Given the description of an element on the screen output the (x, y) to click on. 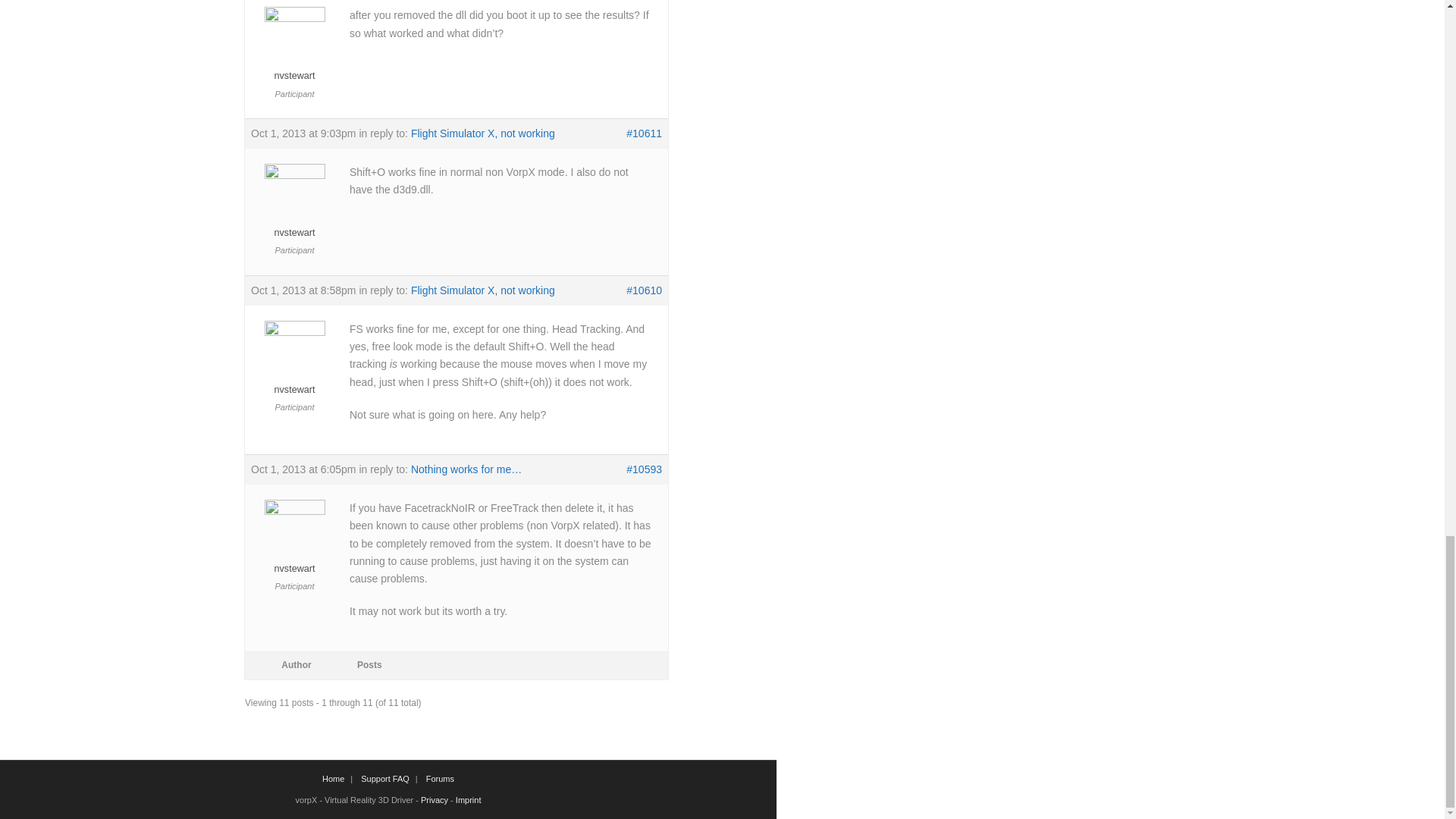
View nvstewart's profile (293, 205)
View nvstewart's profile (293, 362)
View nvstewart's profile (293, 49)
